Given the description of an element on the screen output the (x, y) to click on. 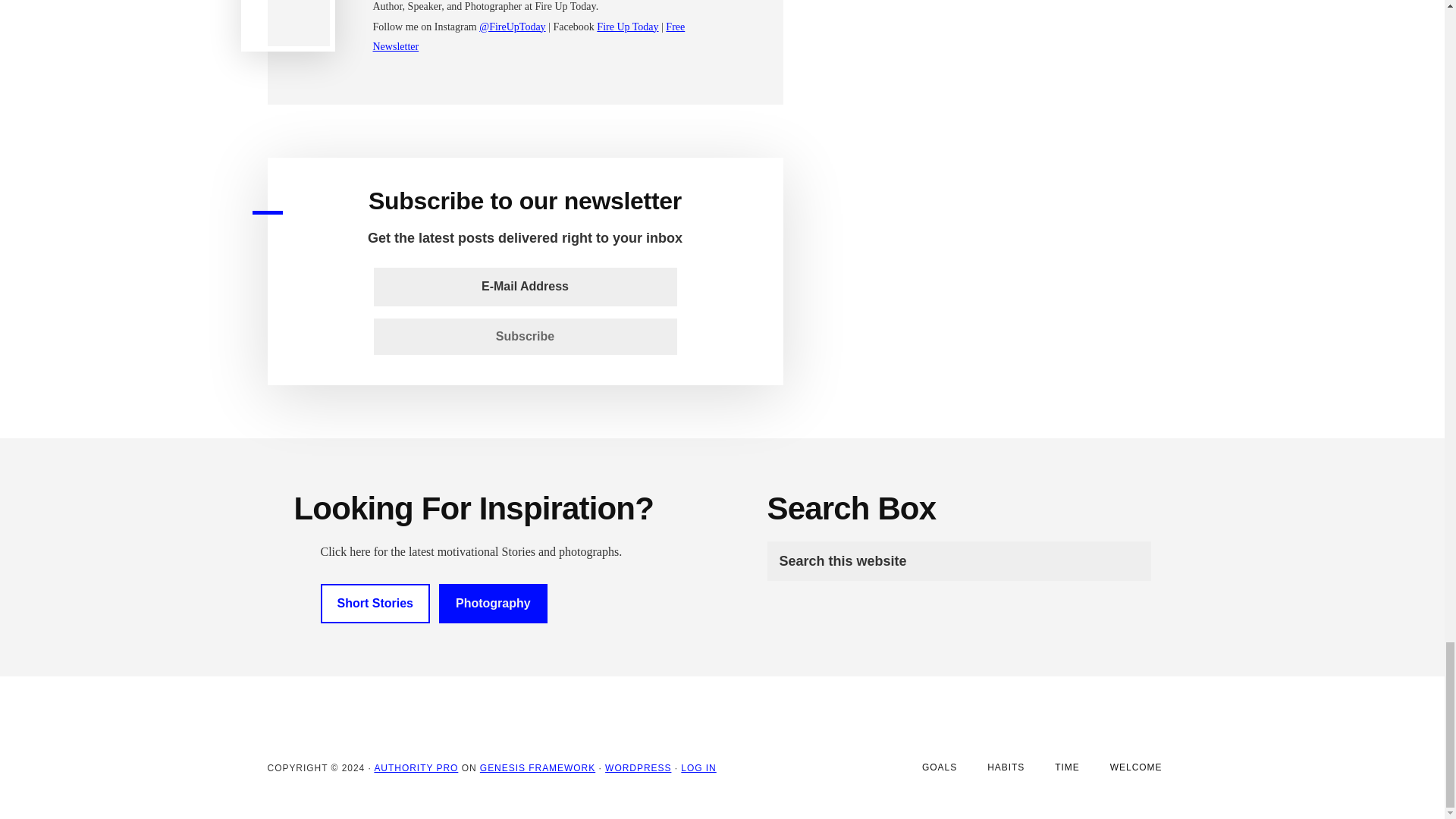
Fire Up Today (627, 26)
Subscribe (524, 336)
